Given the description of an element on the screen output the (x, y) to click on. 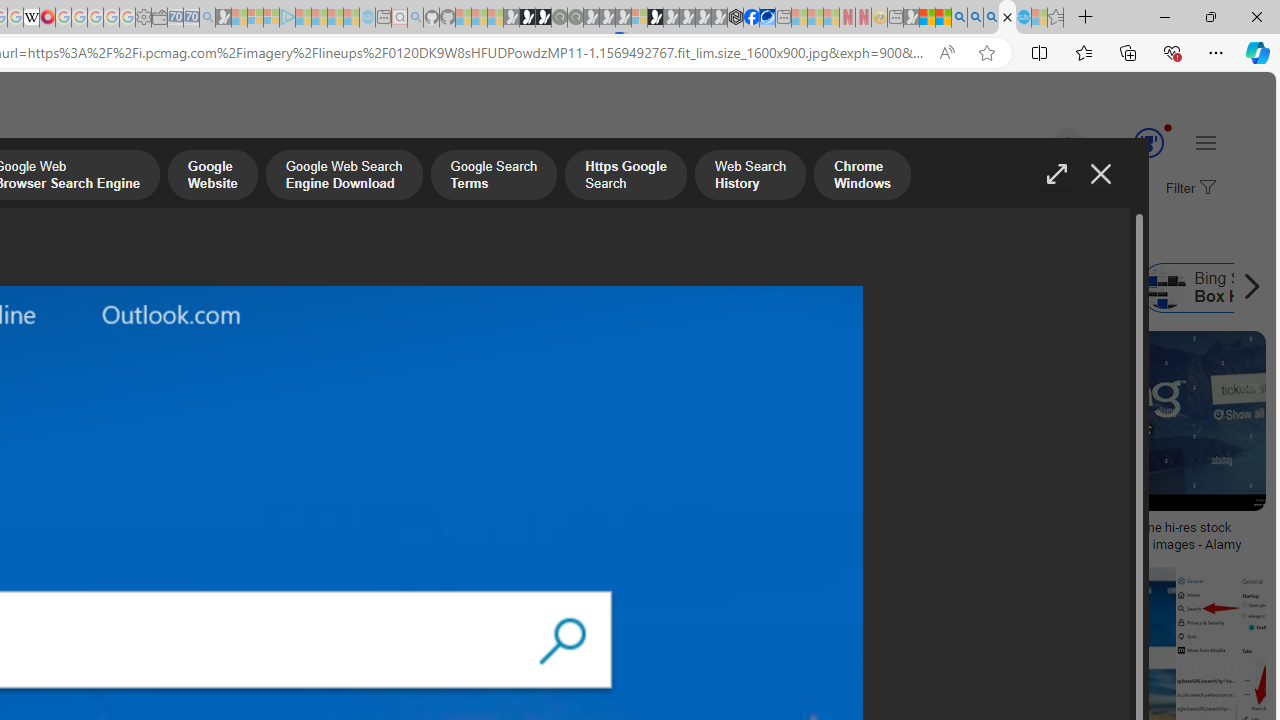
AutomationID: serp_medal_svg (1148, 142)
Chrome Windows (861, 177)
Mugs (132, 521)
2009 Bing officially replaced Live Search on June 3 - Search (975, 17)
Who Made Bing Search Engine (434, 287)
